Given the description of an element on the screen output the (x, y) to click on. 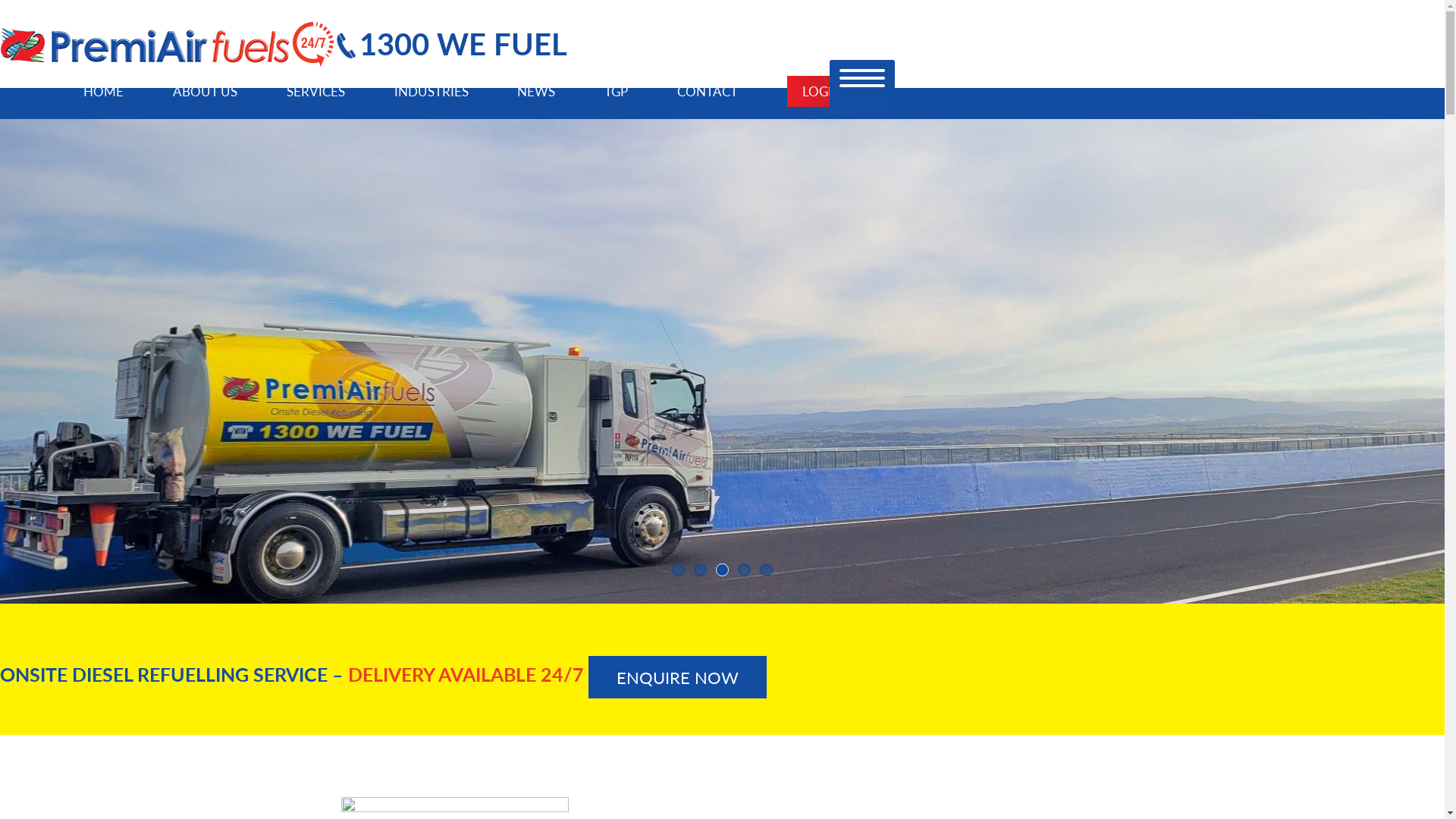
TGP Element type: text (615, 90)
2 Element type: text (699, 569)
4 Element type: text (743, 569)
HOME Element type: text (103, 90)
NEWS Element type: text (536, 90)
SERVICES Element type: text (315, 90)
CONTACT Element type: text (707, 90)
INDUSTRIES Element type: text (431, 90)
3 Element type: text (721, 569)
ABOUT US Element type: text (204, 90)
1 Element type: text (677, 569)
LOGIN Element type: text (821, 90)
ENQUIRE NOW Element type: text (677, 676)
1300 WE FUEL Element type: text (451, 42)
5 Element type: text (765, 569)
